Given the description of an element on the screen output the (x, y) to click on. 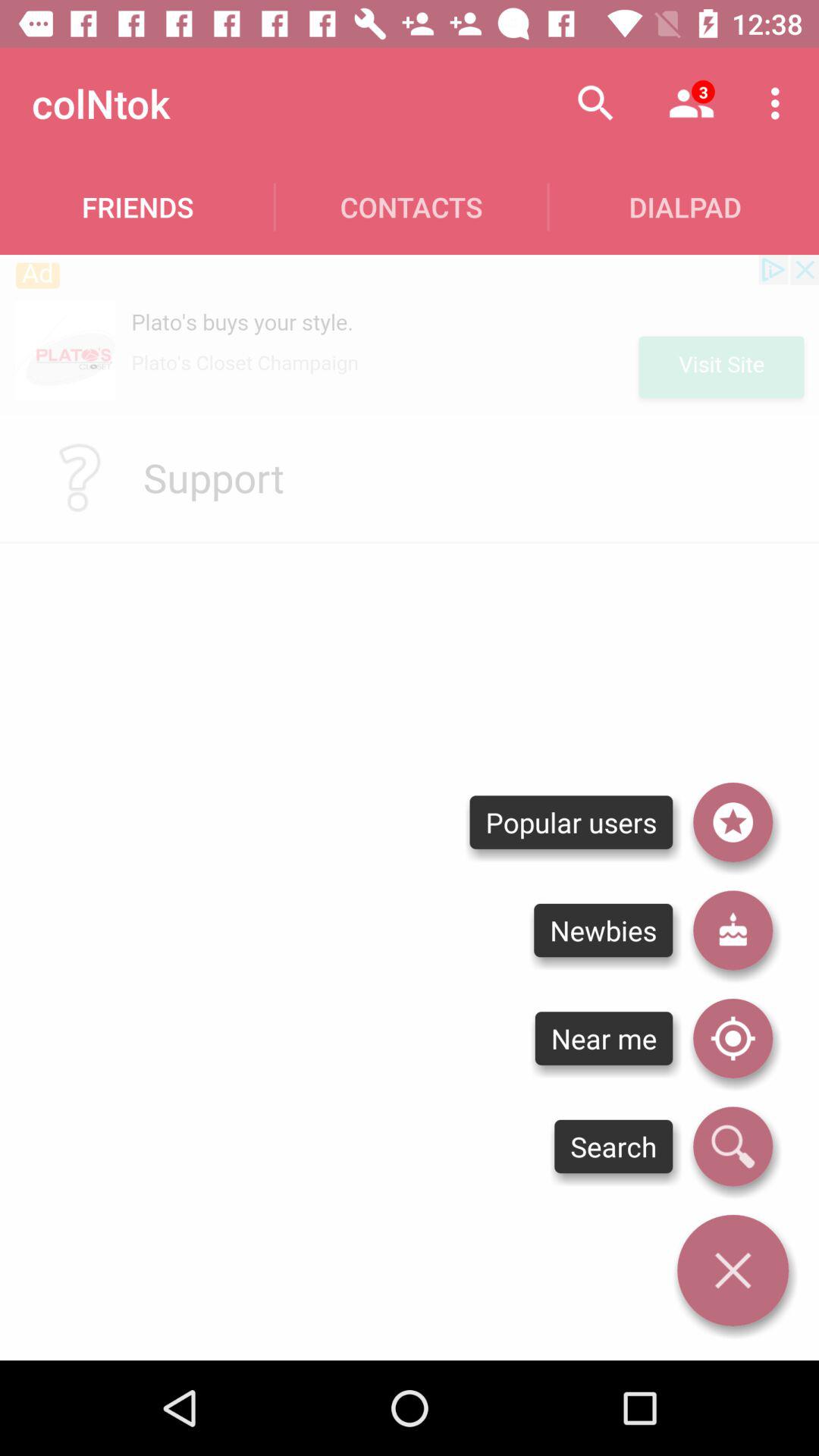
press icon to the right of the popular users (733, 822)
